Given the description of an element on the screen output the (x, y) to click on. 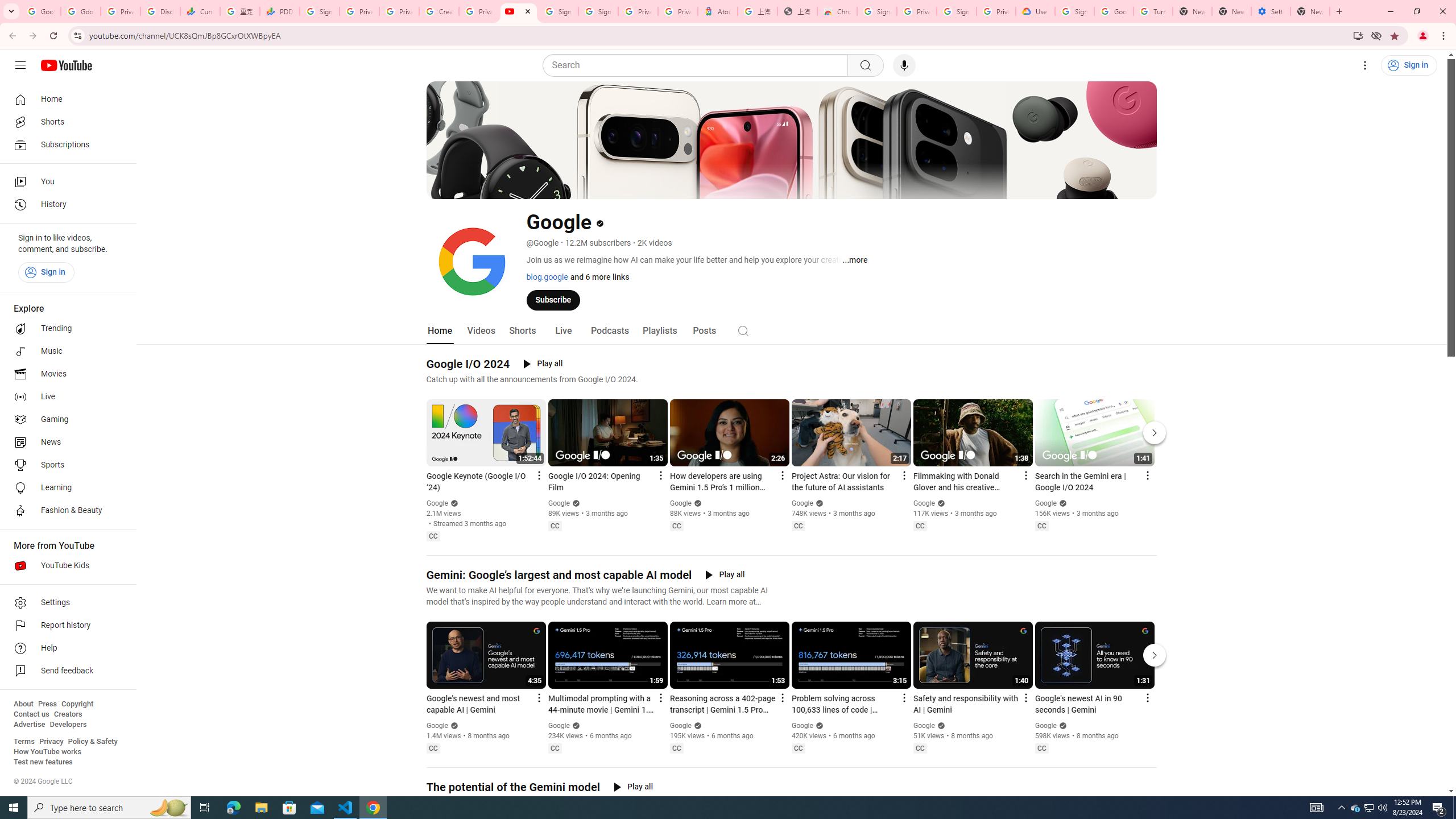
Install YouTube (1358, 35)
Currencies - Google Finance (199, 11)
Advertise (29, 724)
and 6 more links (598, 276)
YouTube Kids (64, 565)
History (64, 204)
Google - YouTube (518, 11)
Playlists (659, 330)
Trending (64, 328)
Posts (703, 330)
